Given the description of an element on the screen output the (x, y) to click on. 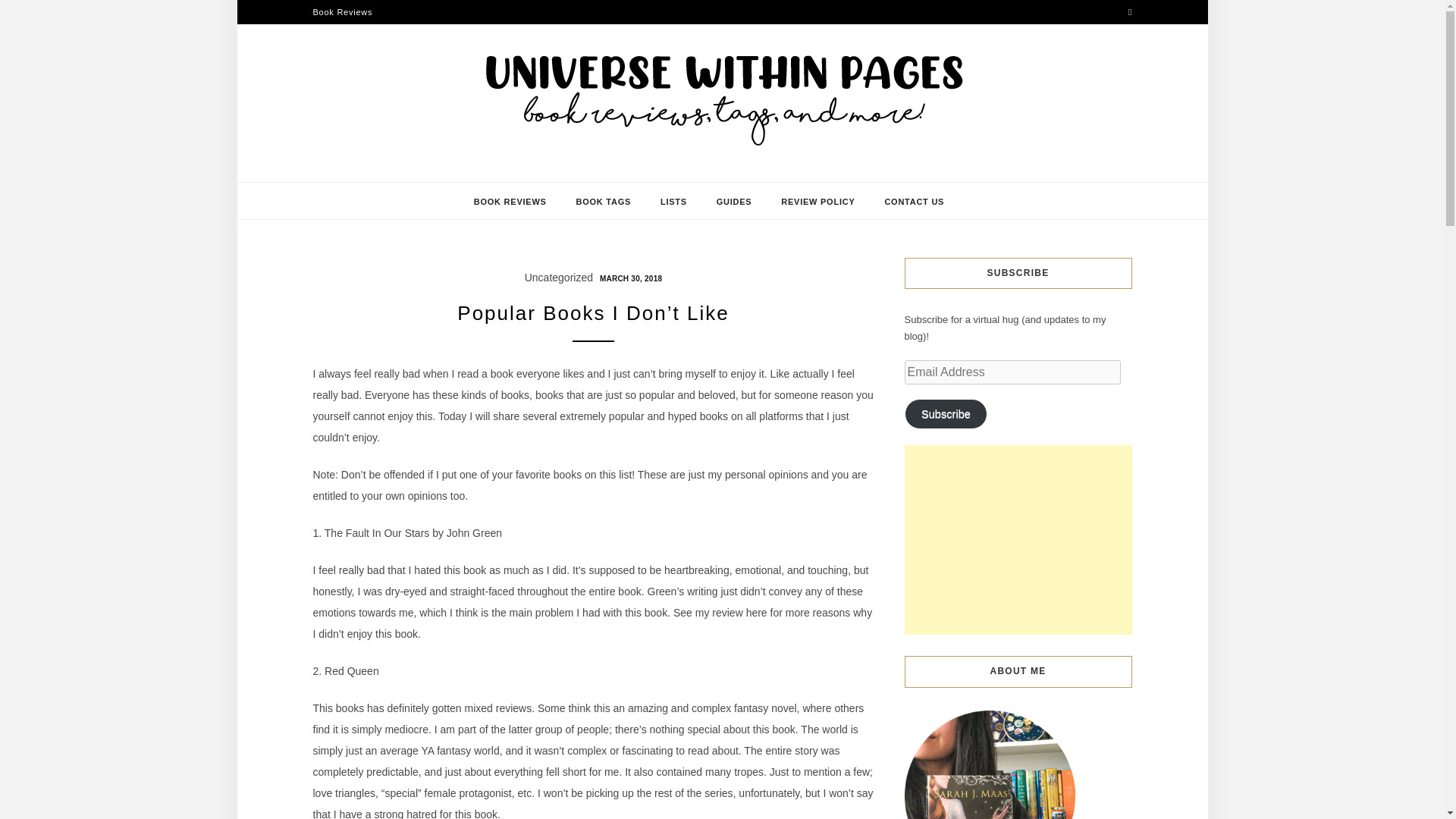
Subscribe (945, 413)
Search (28, 11)
CONTACT US (913, 201)
Advertisement (1017, 539)
BOOK REVIEWS (510, 201)
About Me (989, 764)
BOOK TAGS (603, 201)
REVIEW POLICY (817, 201)
GUIDES (734, 201)
MARCH 30, 2018 (628, 277)
